Given the description of an element on the screen output the (x, y) to click on. 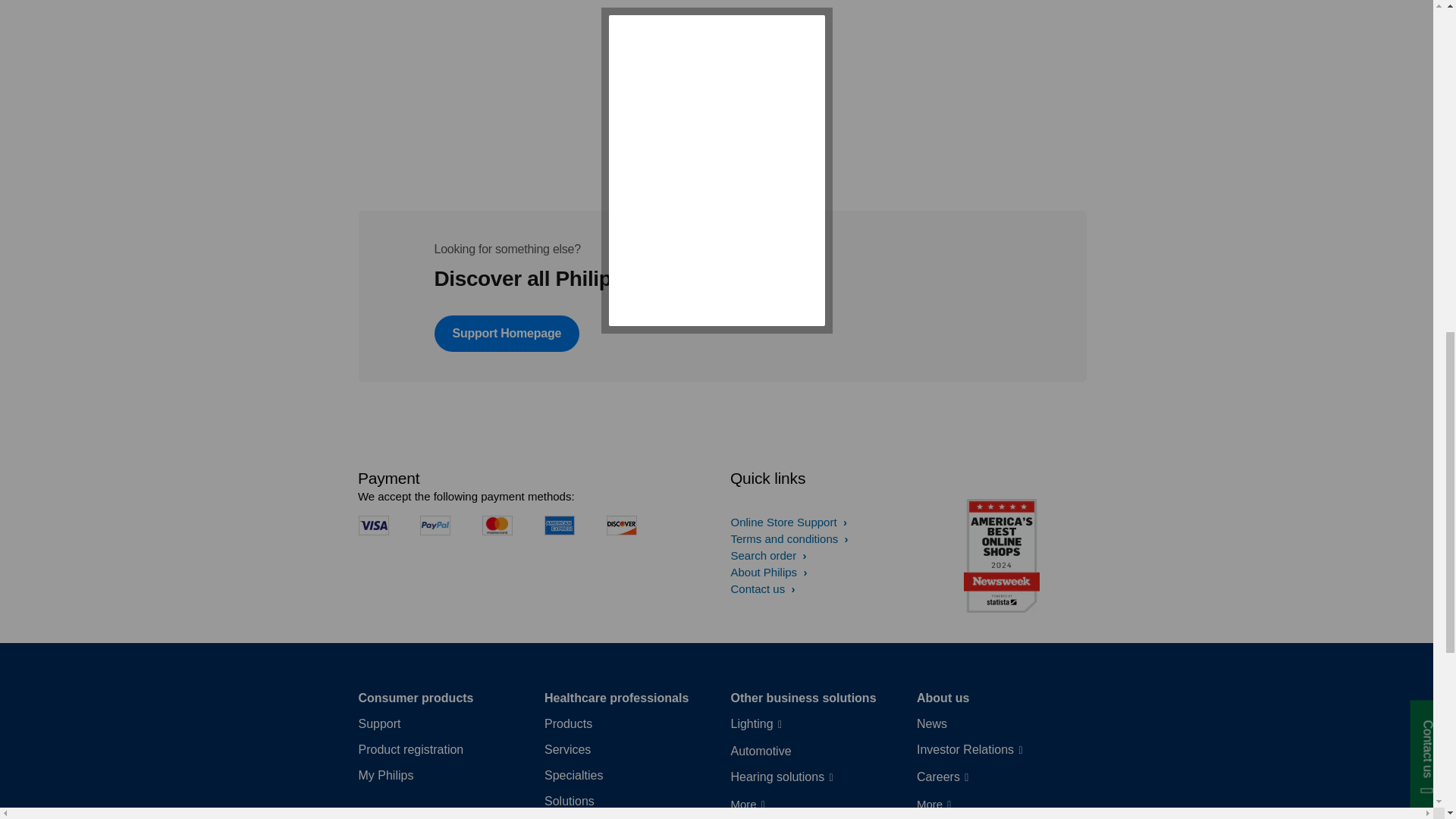
My Philips (385, 775)
Consumer products (415, 698)
Product registration (410, 750)
Support (379, 723)
Healthcare professionals (616, 698)
